Given the description of an element on the screen output the (x, y) to click on. 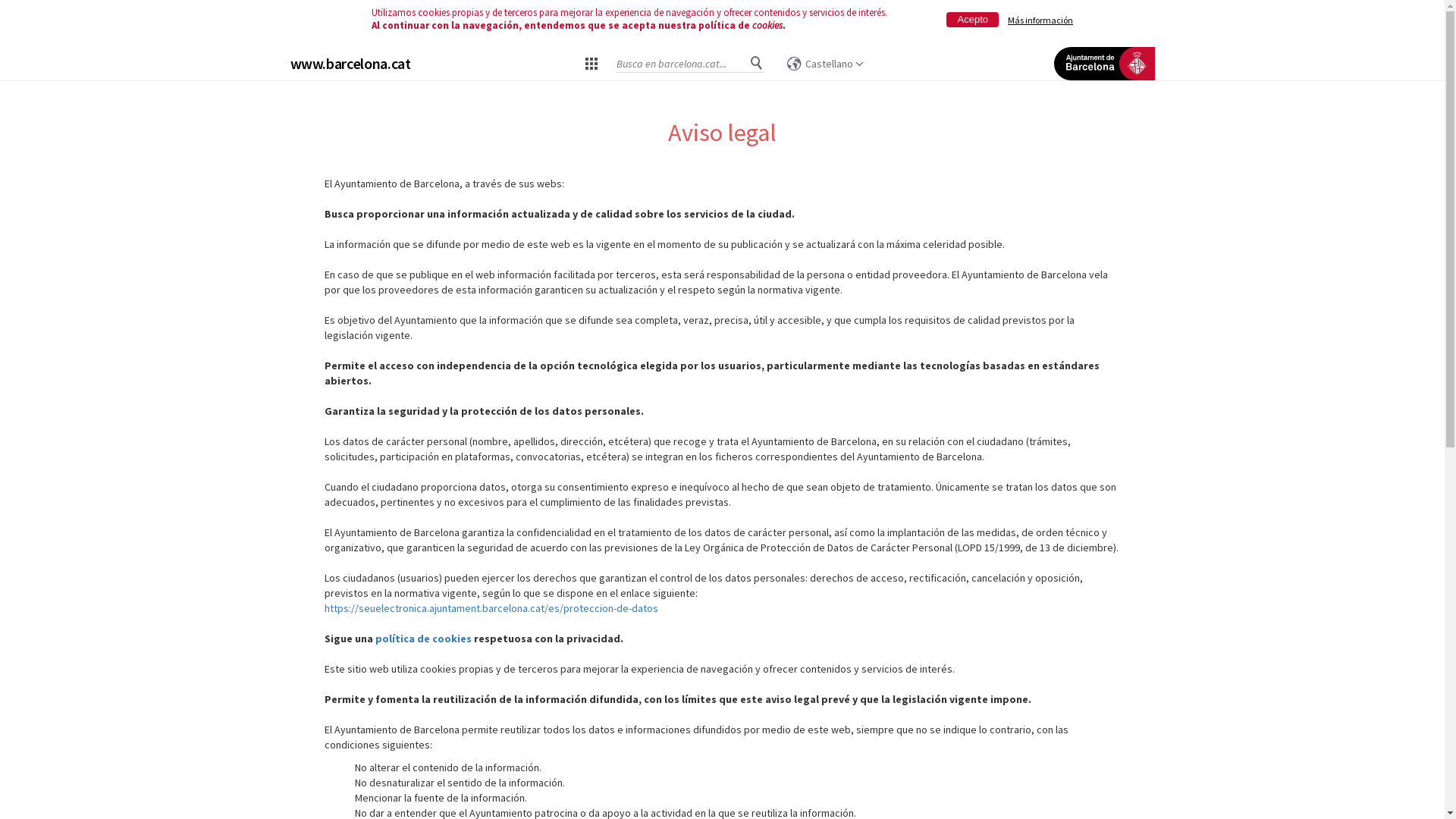
Acepto Element type: text (972, 19)
www.barcelona.cat Element type: text (349, 62)
Pasar al contenido principal Element type: text (62, 37)
cookies Element type: text (767, 24)
Castellano Element type: text (824, 63)
Atajos de barcelona.cat Element type: hover (590, 62)
